Given the description of an element on the screen output the (x, y) to click on. 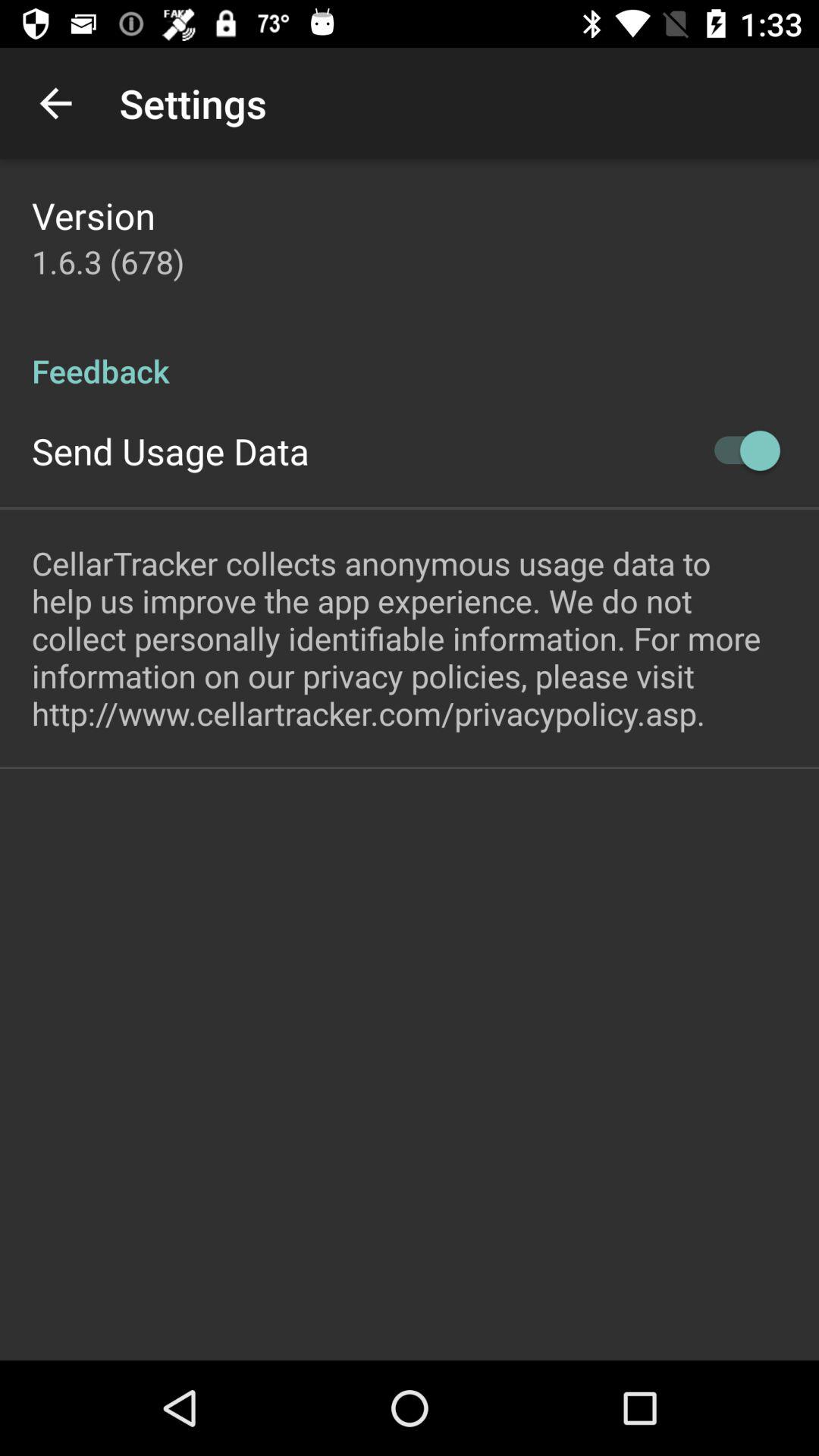
flip to the cellartracker collects anonymous item (409, 637)
